Given the description of an element on the screen output the (x, y) to click on. 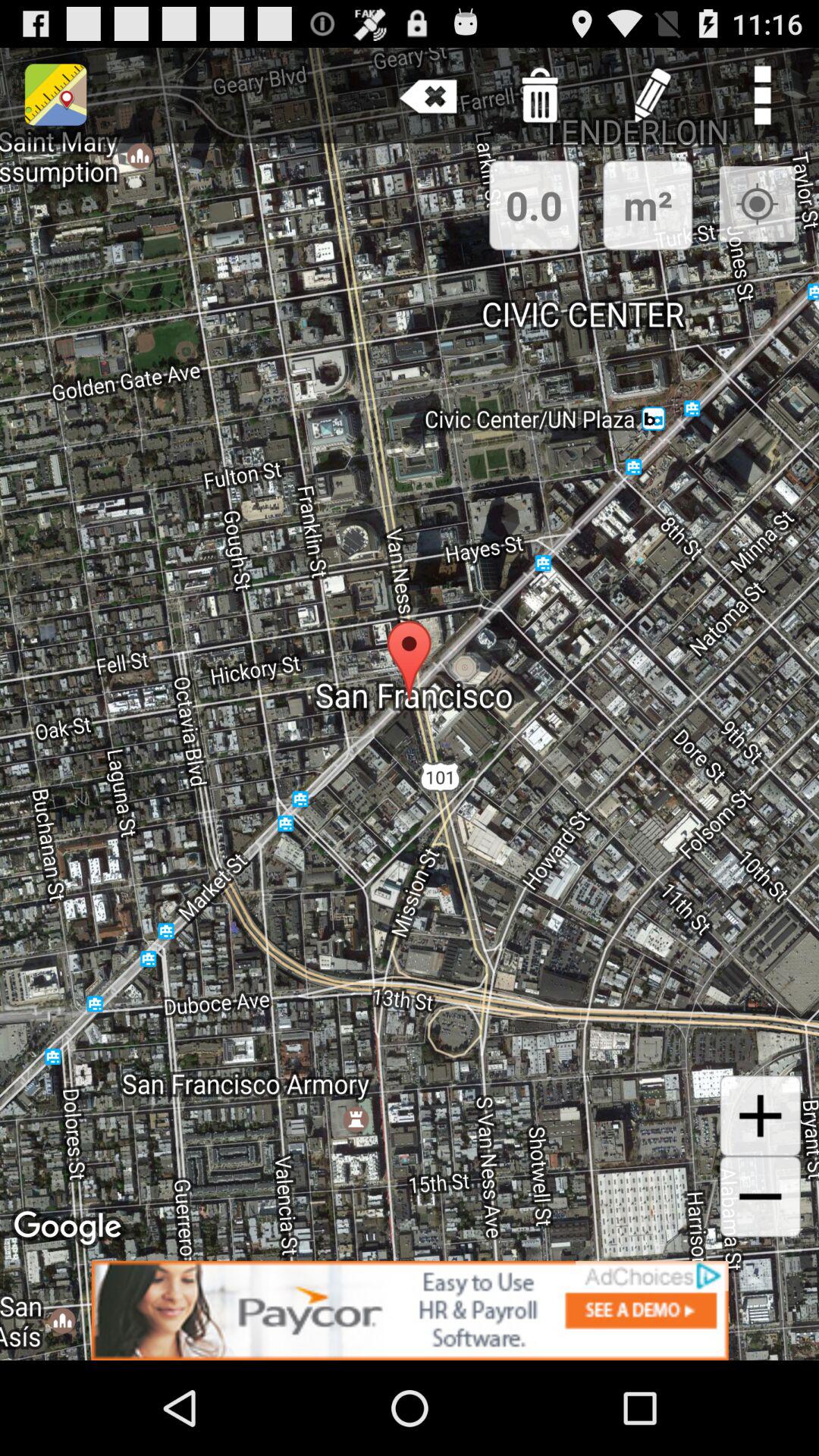
choose the item at the center (409, 703)
